Given the description of an element on the screen output the (x, y) to click on. 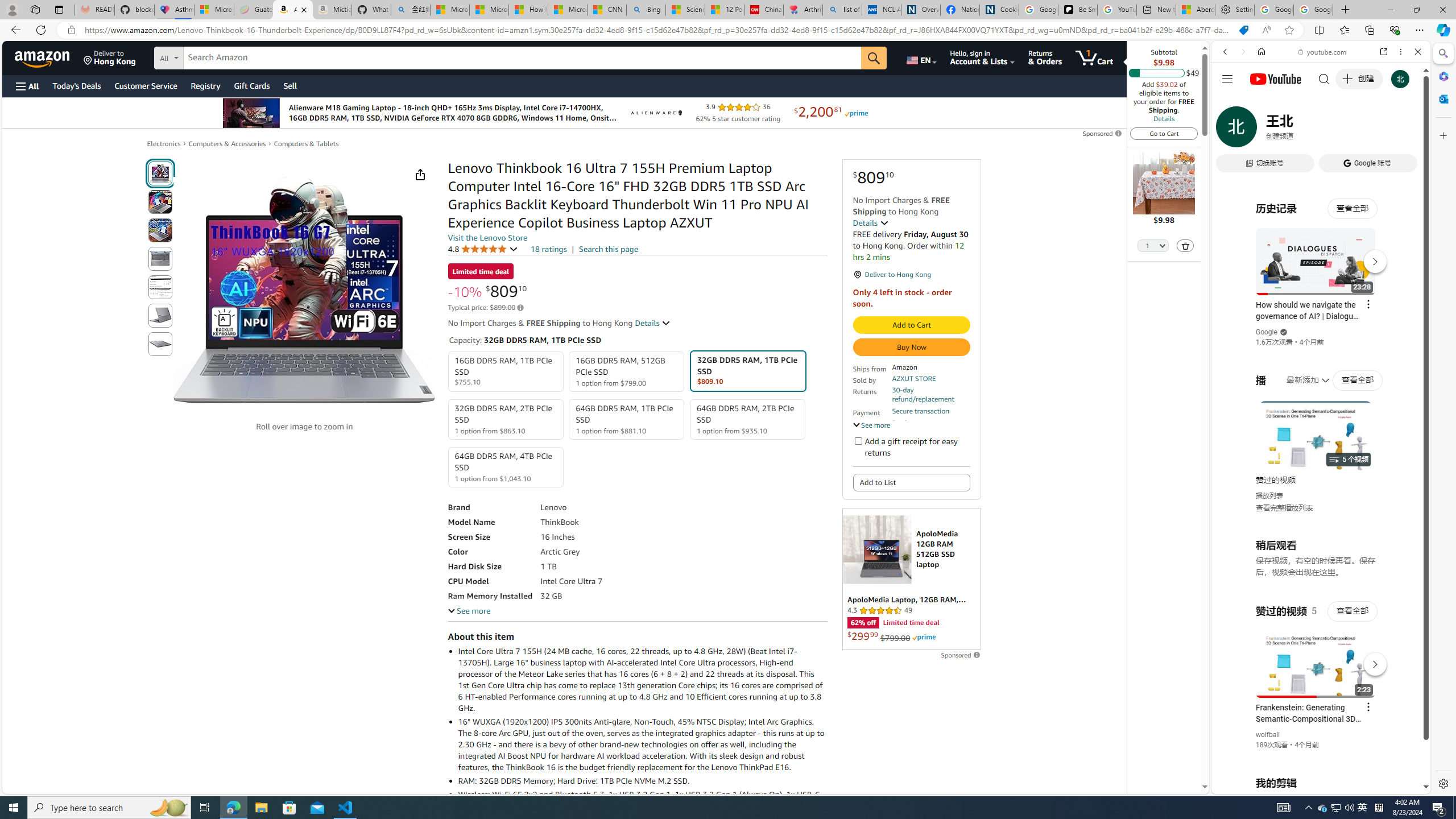
Gift Cards (251, 85)
Today's Deals (76, 85)
Asthma Inhalers: Names and Types (174, 9)
32GB DDR5 RAM, 1TB PCIe SSD $809.10 (747, 370)
1 item in cart (1094, 57)
Side bar (1443, 418)
#you (1320, 253)
This site scope (1259, 102)
Learn more about Amazon pricing and savings (520, 307)
